Given the description of an element on the screen output the (x, y) to click on. 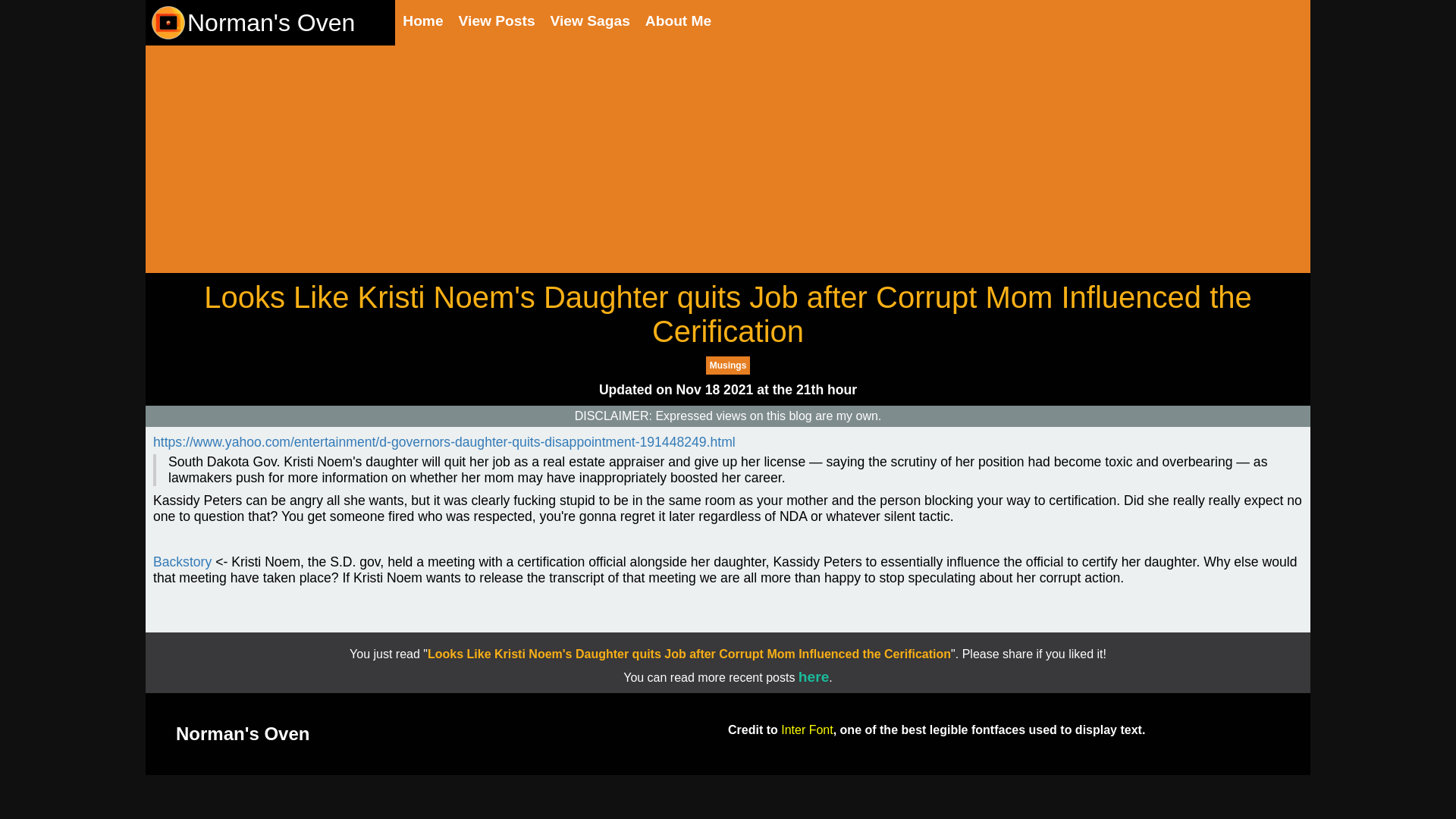
Inter Font (806, 730)
Musings (728, 365)
View Posts (496, 21)
here (813, 677)
Norman's Oven (251, 22)
View Sagas (590, 21)
Backstory (181, 562)
About Me (678, 21)
Home (422, 21)
